Given the description of an element on the screen output the (x, y) to click on. 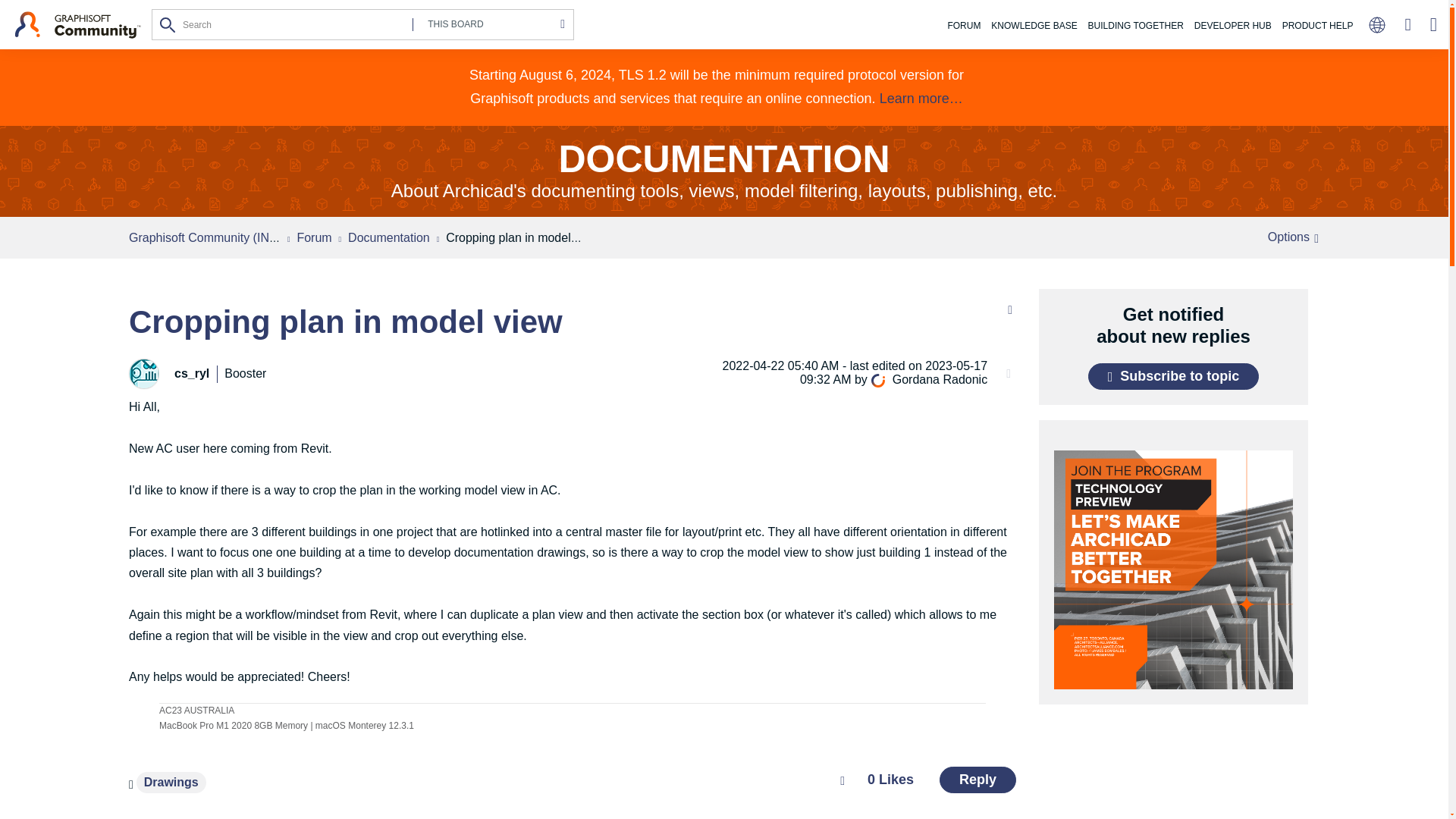
Search Granularity (488, 24)
FORUM (963, 25)
Search (167, 24)
KNOWLEDGE BASE (1033, 25)
Search (167, 24)
Search (167, 24)
Search (362, 24)
